Given the description of an element on the screen output the (x, y) to click on. 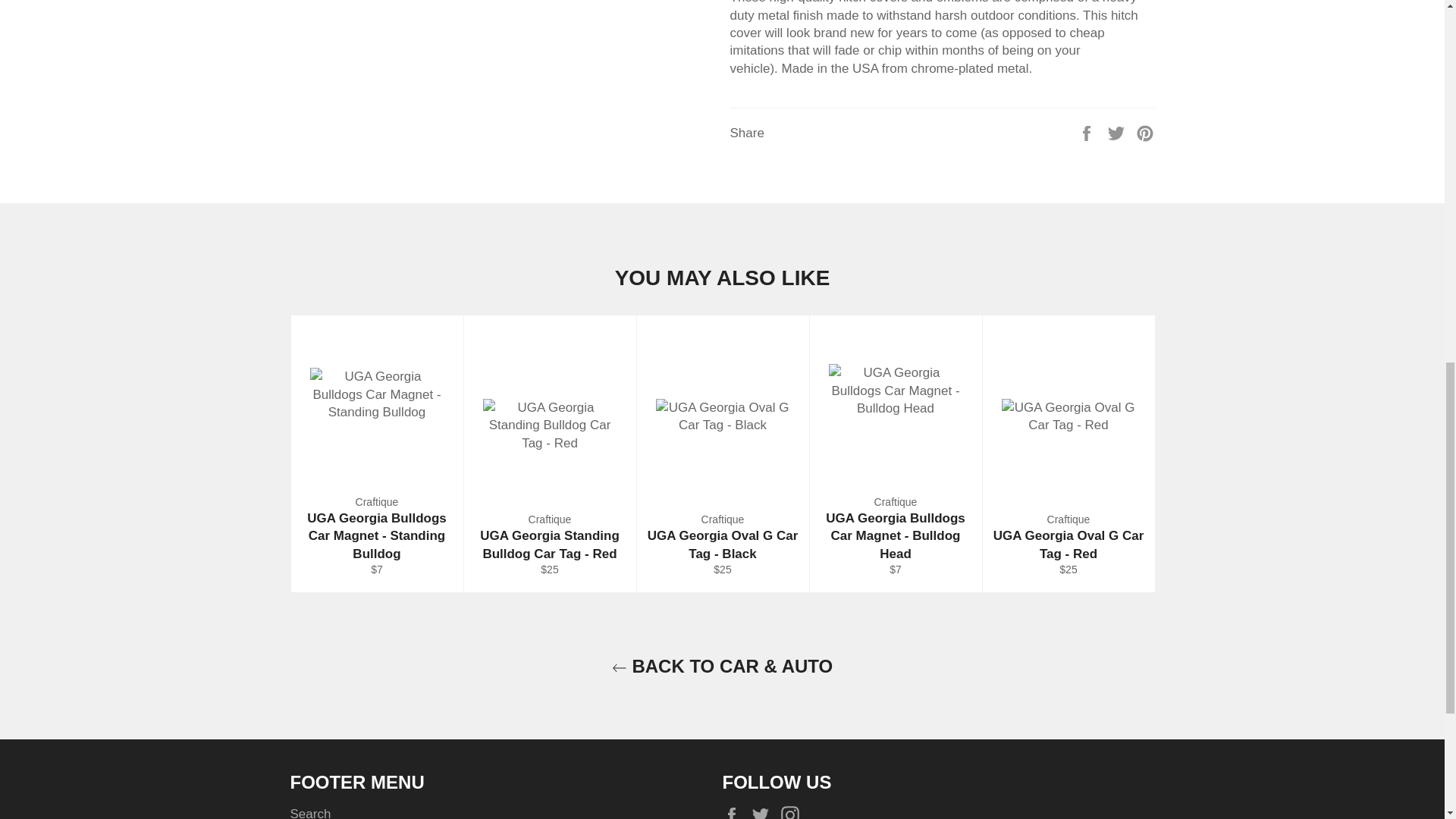
The Red Zone- Athens, GA on Facebook (735, 812)
The Red Zone- Athens, GA on Twitter (764, 812)
Pin on Pinterest (1144, 132)
Tweet on Twitter (1117, 132)
Share on Facebook (1088, 132)
The Red Zone- Athens, GA on Instagram (793, 812)
